Given the description of an element on the screen output the (x, y) to click on. 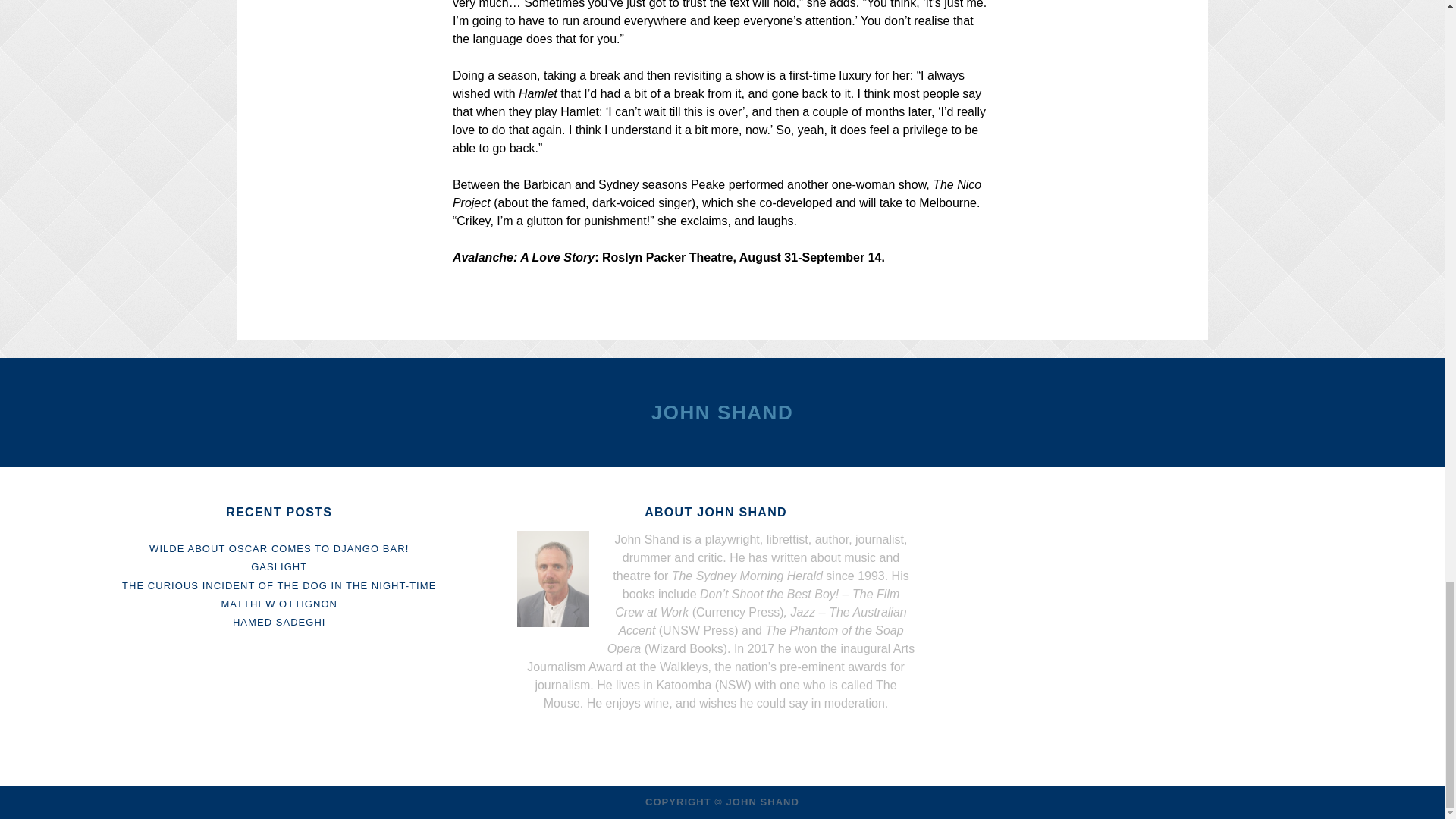
MATTHEW OTTIGNON (279, 603)
THE CURIOUS INCIDENT OF THE DOG IN THE NIGHT-TIME (278, 585)
GASLIGHT (278, 566)
WILDE ABOUT OSCAR COMES TO DJANGO BAR! (279, 548)
JOHN SHAND (721, 412)
HAMED SADEGHI (279, 622)
